Given the description of an element on the screen output the (x, y) to click on. 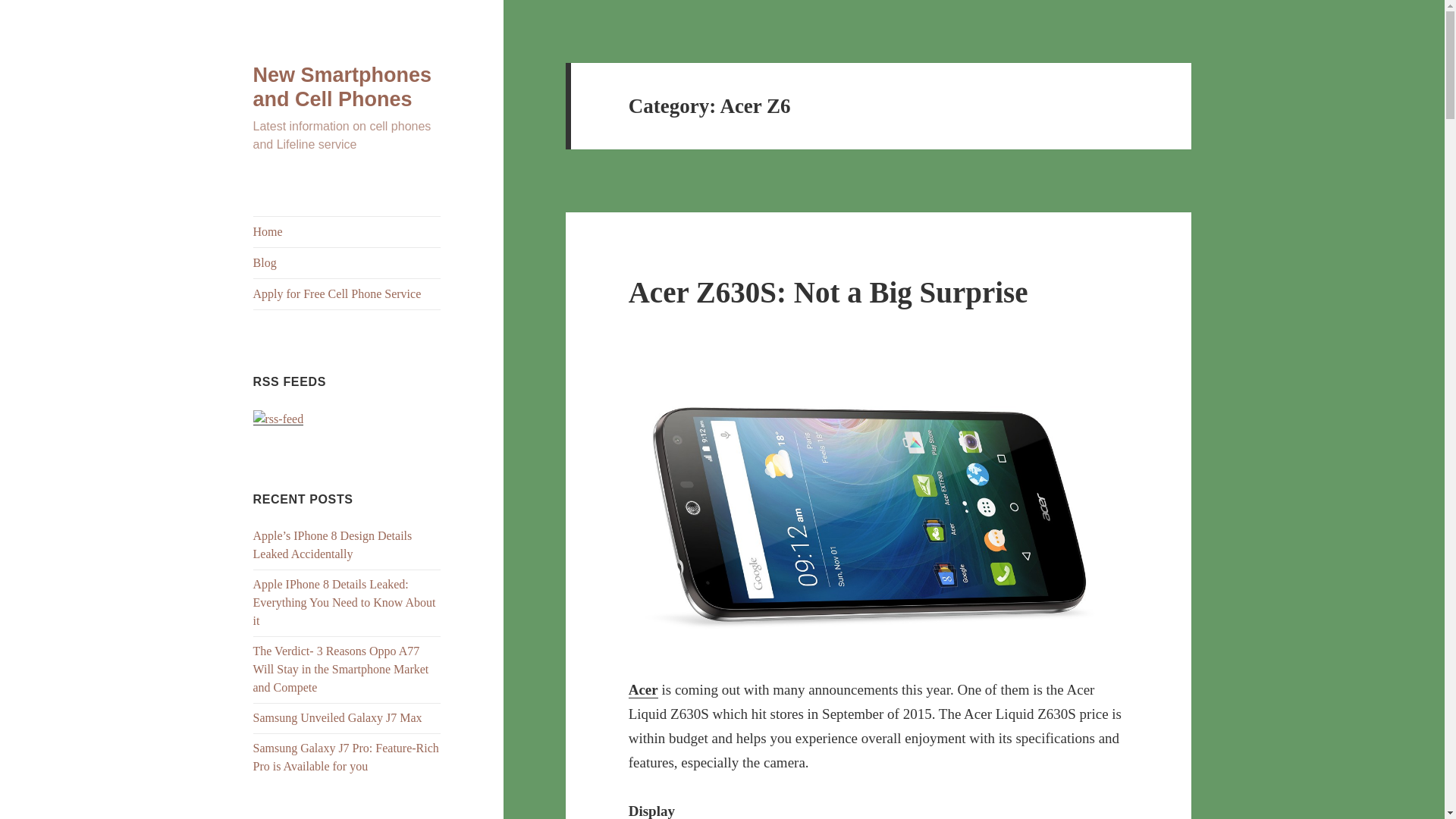
Blog (347, 263)
RSS Feeds (278, 418)
Samsung Unveiled Galaxy J7 Max (337, 717)
New Smartphones and Cell Phones (342, 86)
Apply for Free Cell Phone Service (347, 294)
Home (347, 232)
Samsung Galaxy J7 Pro: Feature-Rich Pro is Available for you (346, 757)
